Given the description of an element on the screen output the (x, y) to click on. 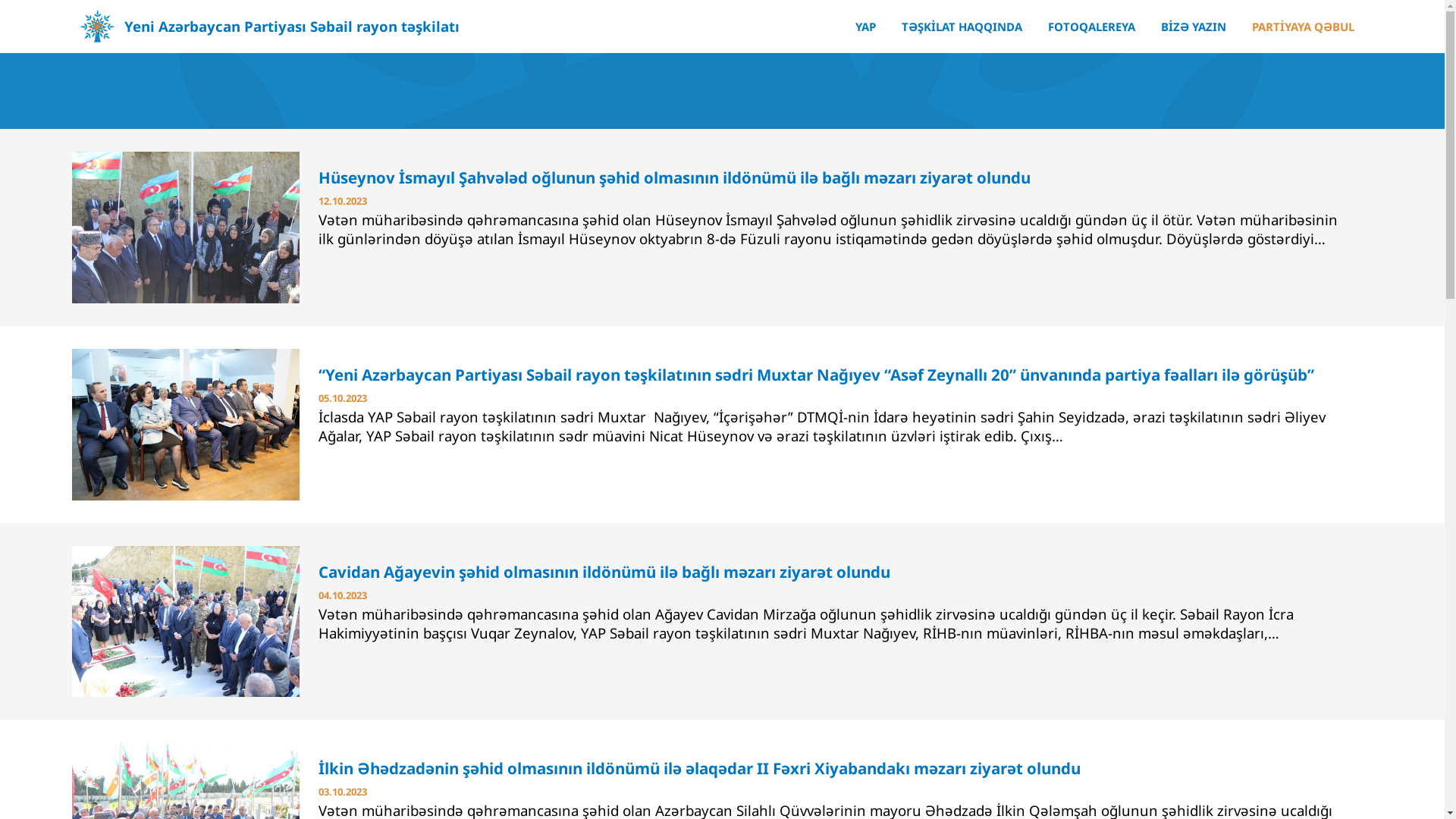
FOTOQALEREYA Element type: text (1091, 26)
YAP Element type: text (865, 26)
